Given the description of an element on the screen output the (x, y) to click on. 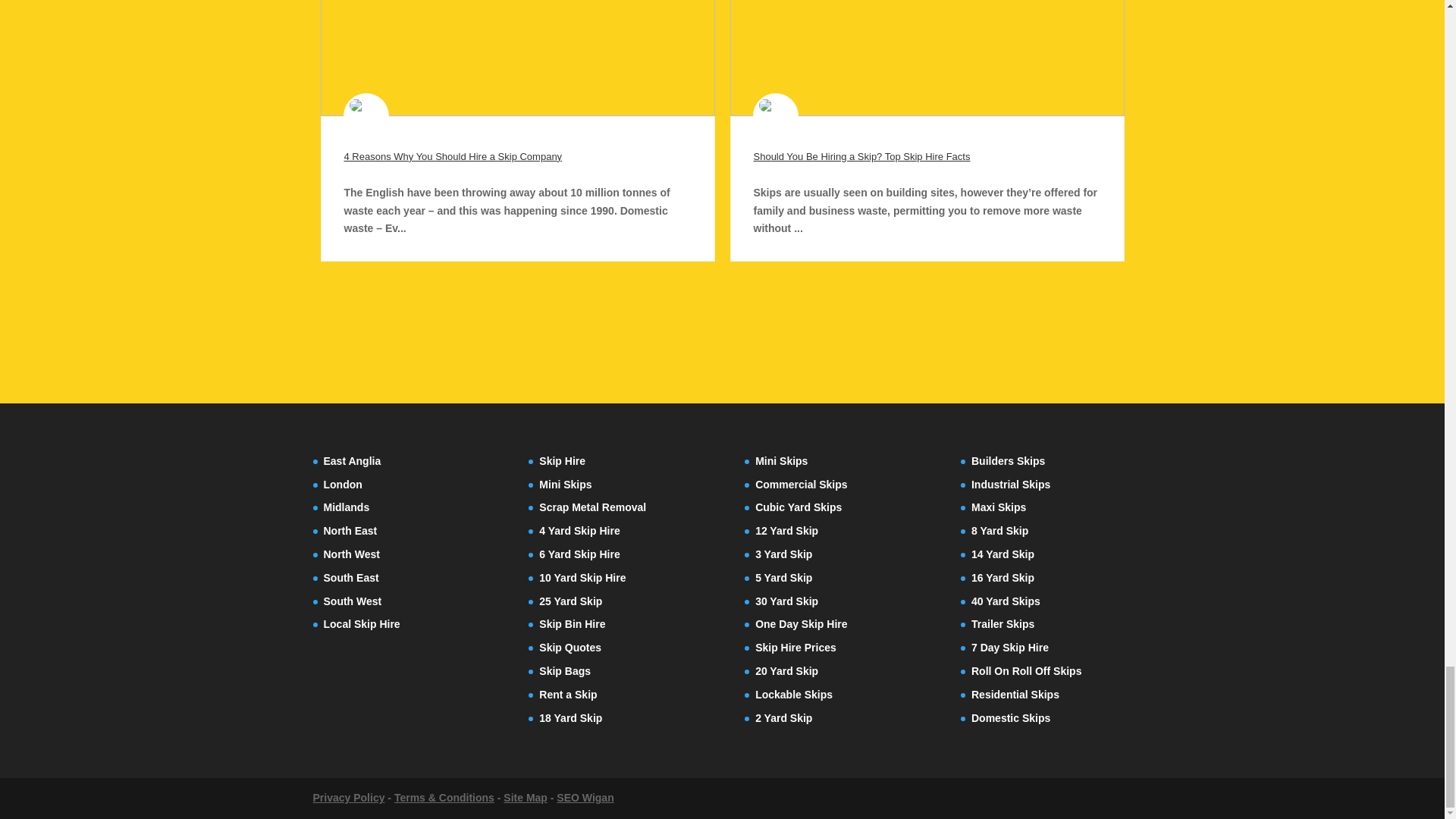
4 Yard Skip Hire (579, 530)
Midlands (346, 507)
South East (350, 577)
Site Map (525, 797)
Local Skip Hire (360, 623)
East Anglia (351, 460)
Commercial Skips (801, 484)
4 Reasons Why You Should Hire a Skip Company (452, 156)
North East (350, 530)
North West (350, 553)
Mini Skips (564, 484)
Privacy Policy (348, 797)
Should You Be Hiring a Skip? Top Skip Hire Facts (862, 156)
London (342, 484)
Skip Bin Hire (571, 623)
